Given the description of an element on the screen output the (x, y) to click on. 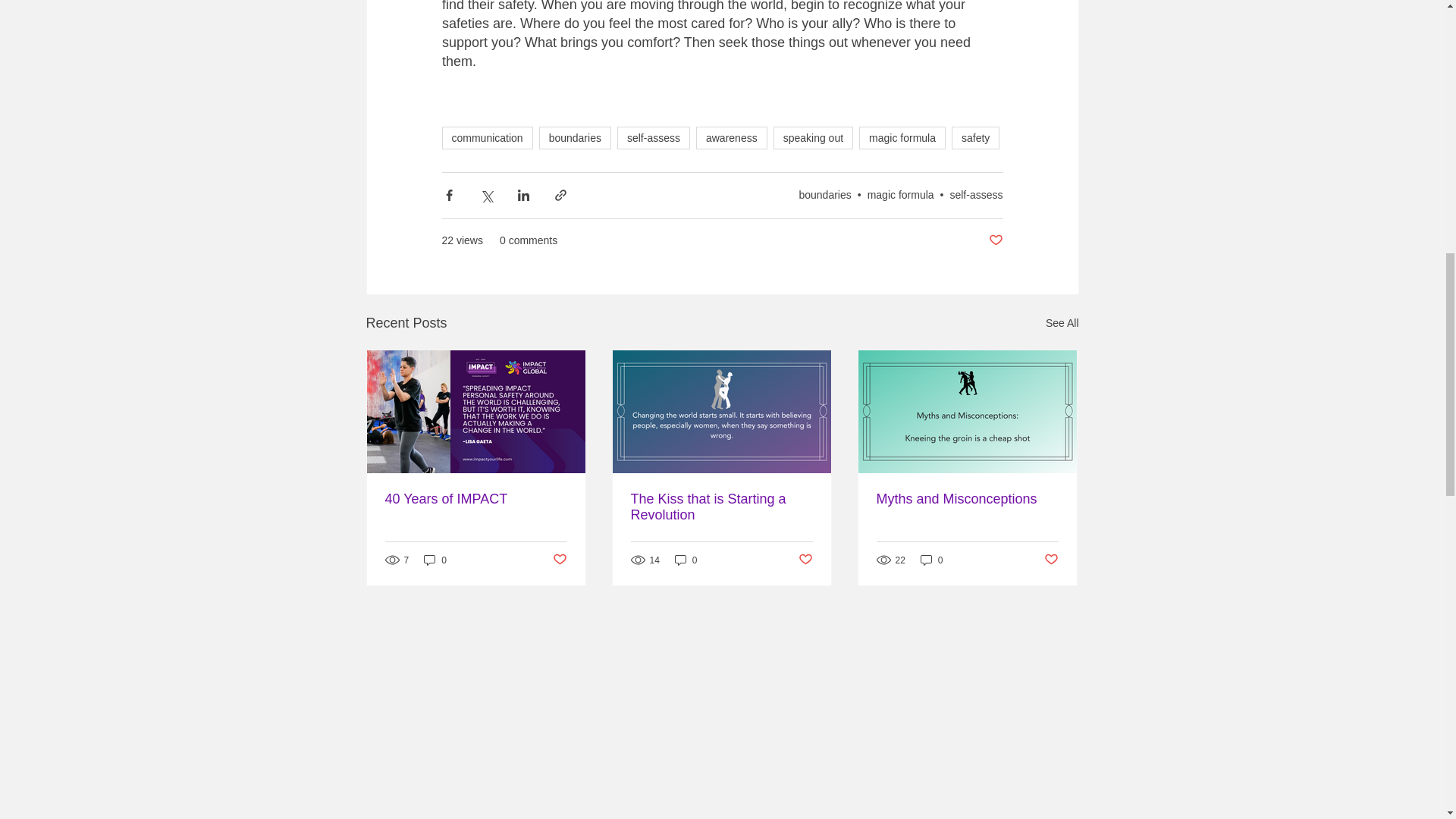
boundaries (574, 137)
communication (486, 137)
self-assess (653, 137)
